Given the description of an element on the screen output the (x, y) to click on. 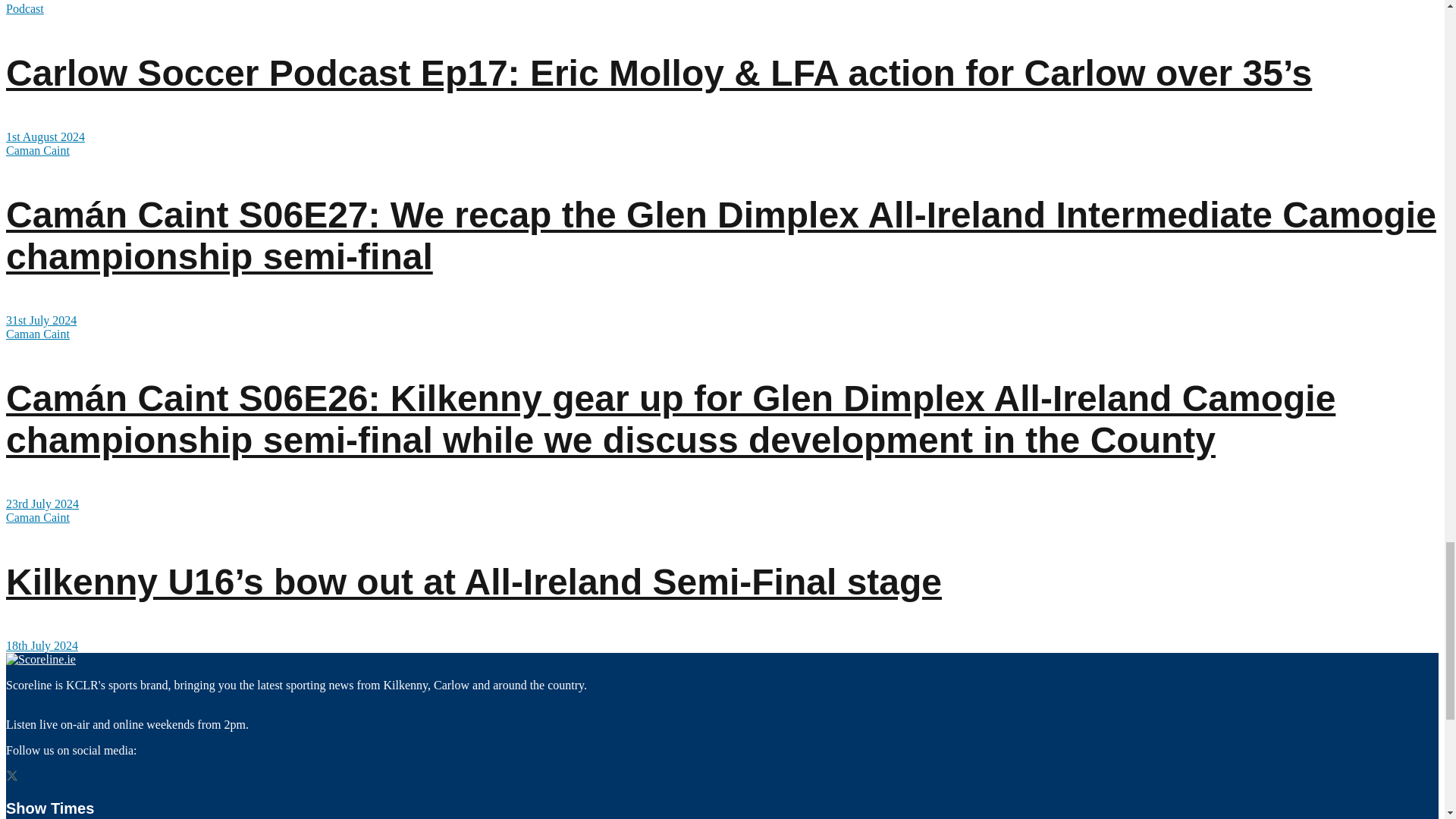
Podcast (24, 8)
31st July 2024 (41, 319)
Caman Caint (37, 150)
1st August 2024 (44, 136)
